Given the description of an element on the screen output the (x, y) to click on. 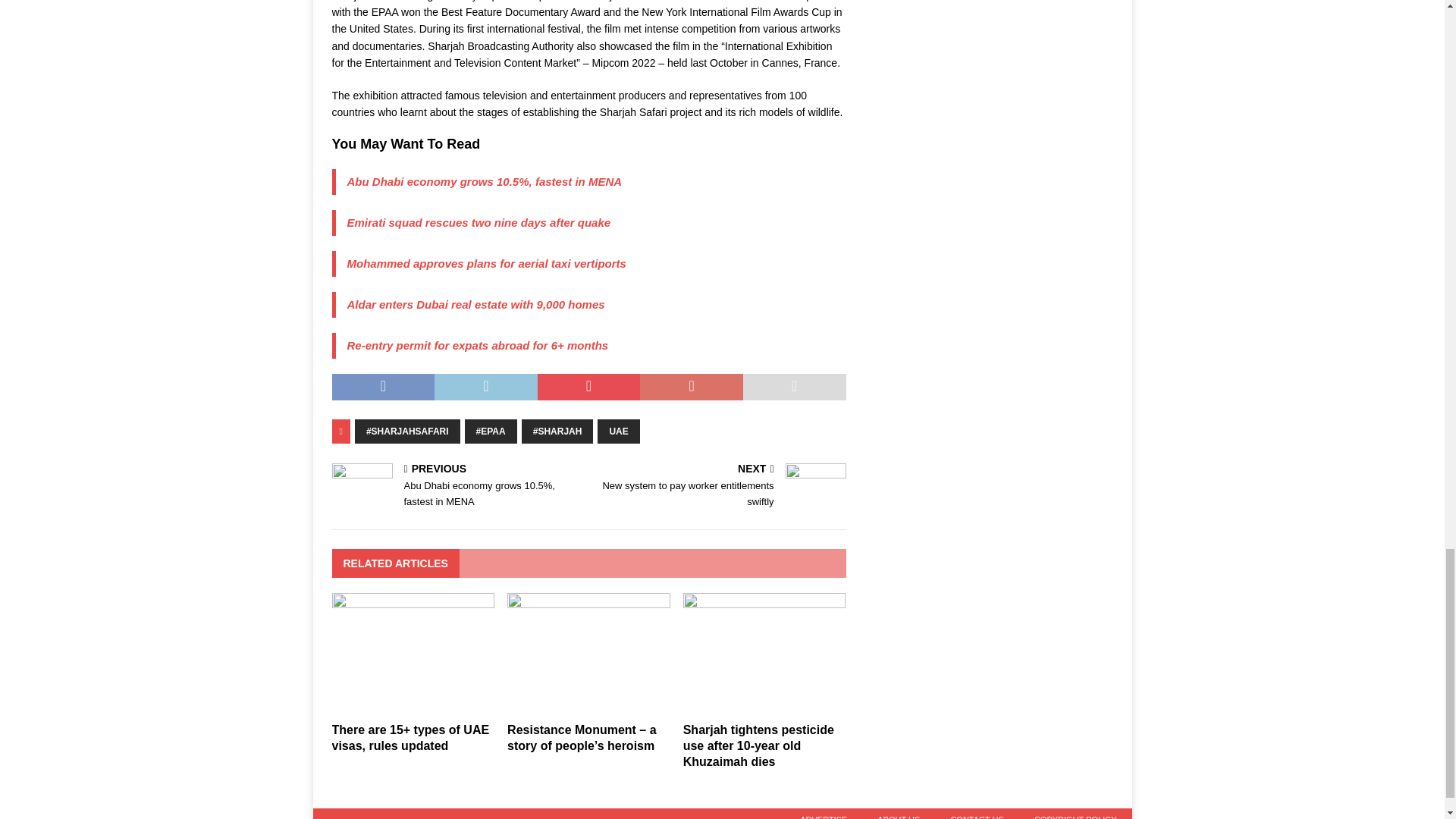
Aldar enters Dubai real estate with 9,000 homes (476, 304)
Mohammed approves plans for aerial taxi vertiports (486, 263)
Emirati squad rescues two nine days after quake (479, 222)
